Given the description of an element on the screen output the (x, y) to click on. 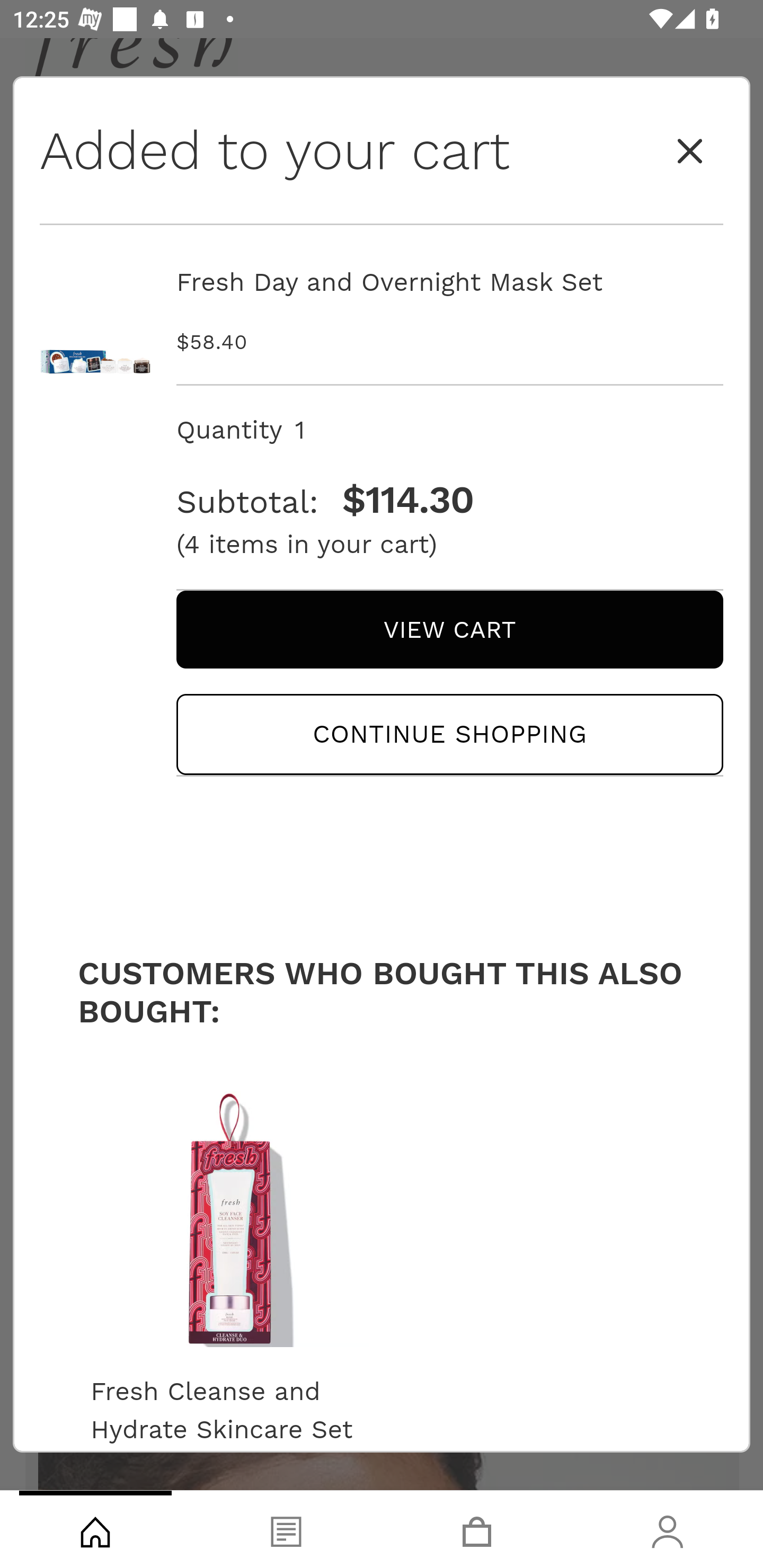
Close (689, 151)
Fresh Day and Overnight Mask Set (95, 320)
Fresh Day and Overnight Mask Set (449, 281)
VIEW CART (449, 629)
CONTINUE SHOPPING (449, 734)
Fresh Cleanse and Hydrate Skincare Set (229, 1214)
Fresh Cleanse and Hydrate Skincare Set (229, 1410)
Shop, tab, 1 of 4 (95, 1529)
Blog, tab, 2 of 4 (285, 1529)
Basket, tab, 3 of 4 (476, 1529)
Account, tab, 4 of 4 (667, 1529)
